Given the description of an element on the screen output the (x, y) to click on. 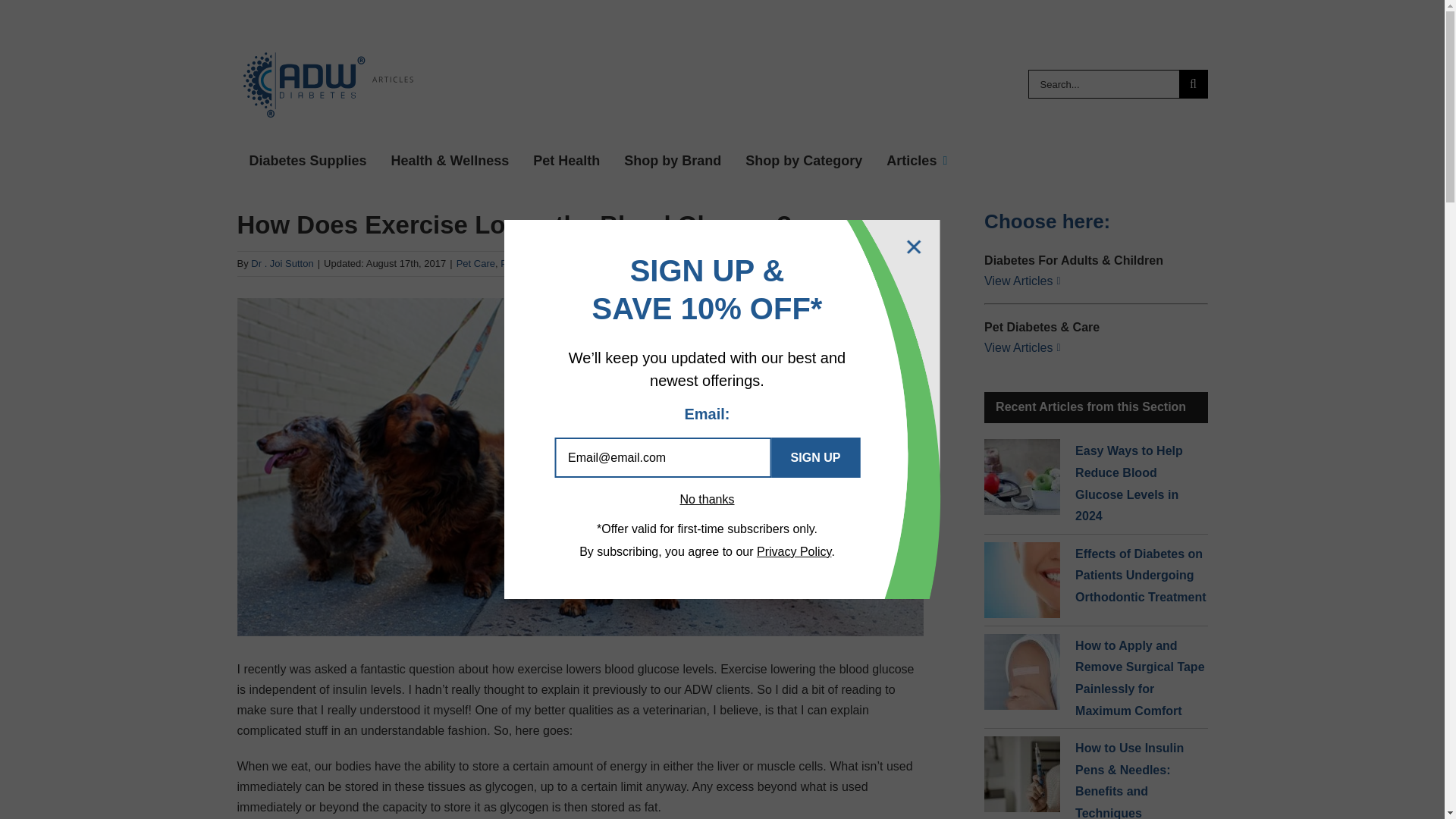
Posts by Dr . Joi Sutton (281, 263)
Accessibility Tools (19, 95)
Pet Health (566, 160)
Articles (917, 160)
Easy Ways to Help Reduce Blood Glucose Levels in 2024 (1021, 476)
Easy Ways to Help Reduce Blood Glucose Levels in 2024 (1128, 483)
Dr . Joi Sutton (281, 263)
SIGN UP (815, 457)
